Given the description of an element on the screen output the (x, y) to click on. 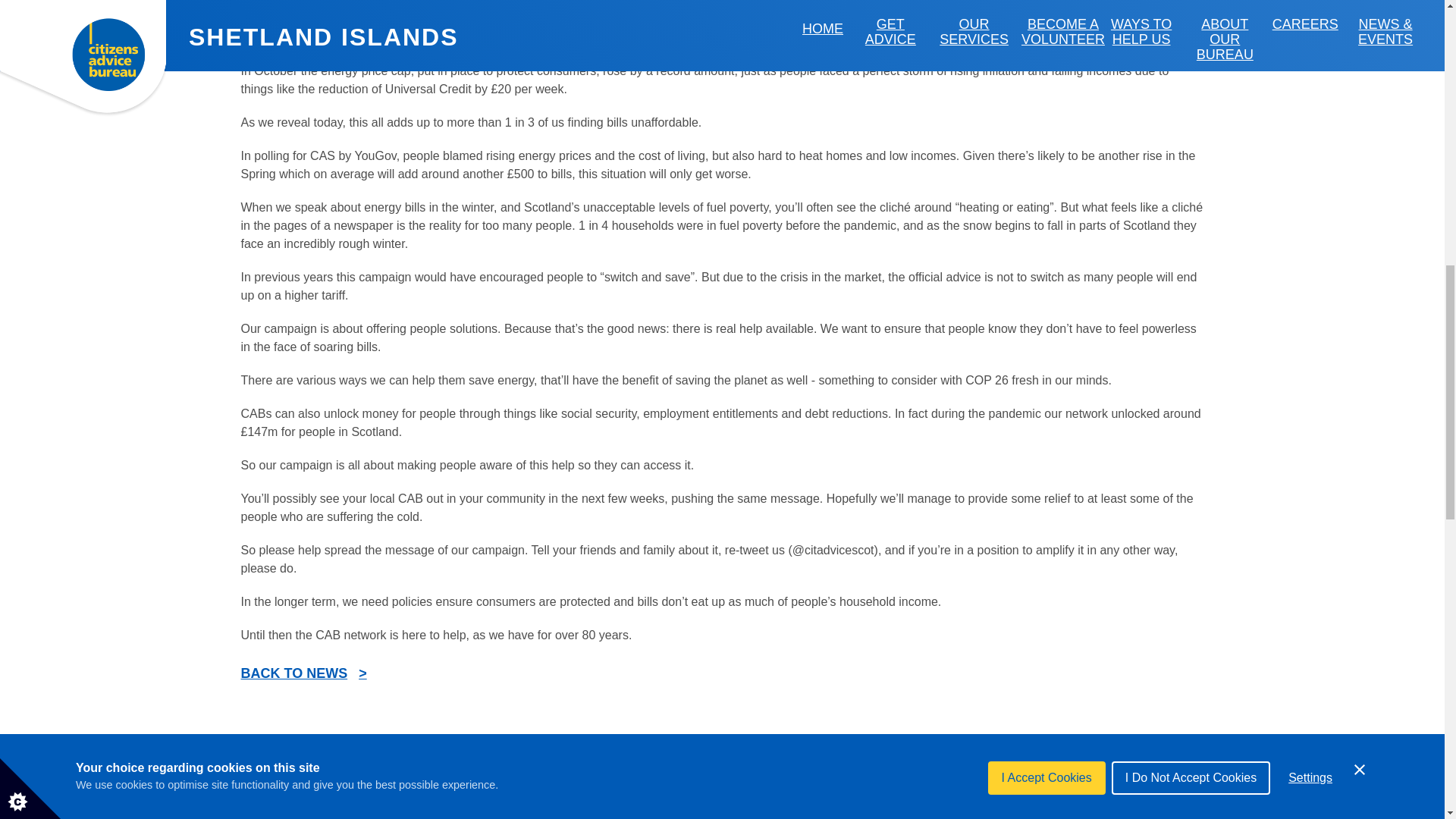
I Accept Cookies (1046, 5)
BACK TO NEWS (303, 672)
